Given the description of an element on the screen output the (x, y) to click on. 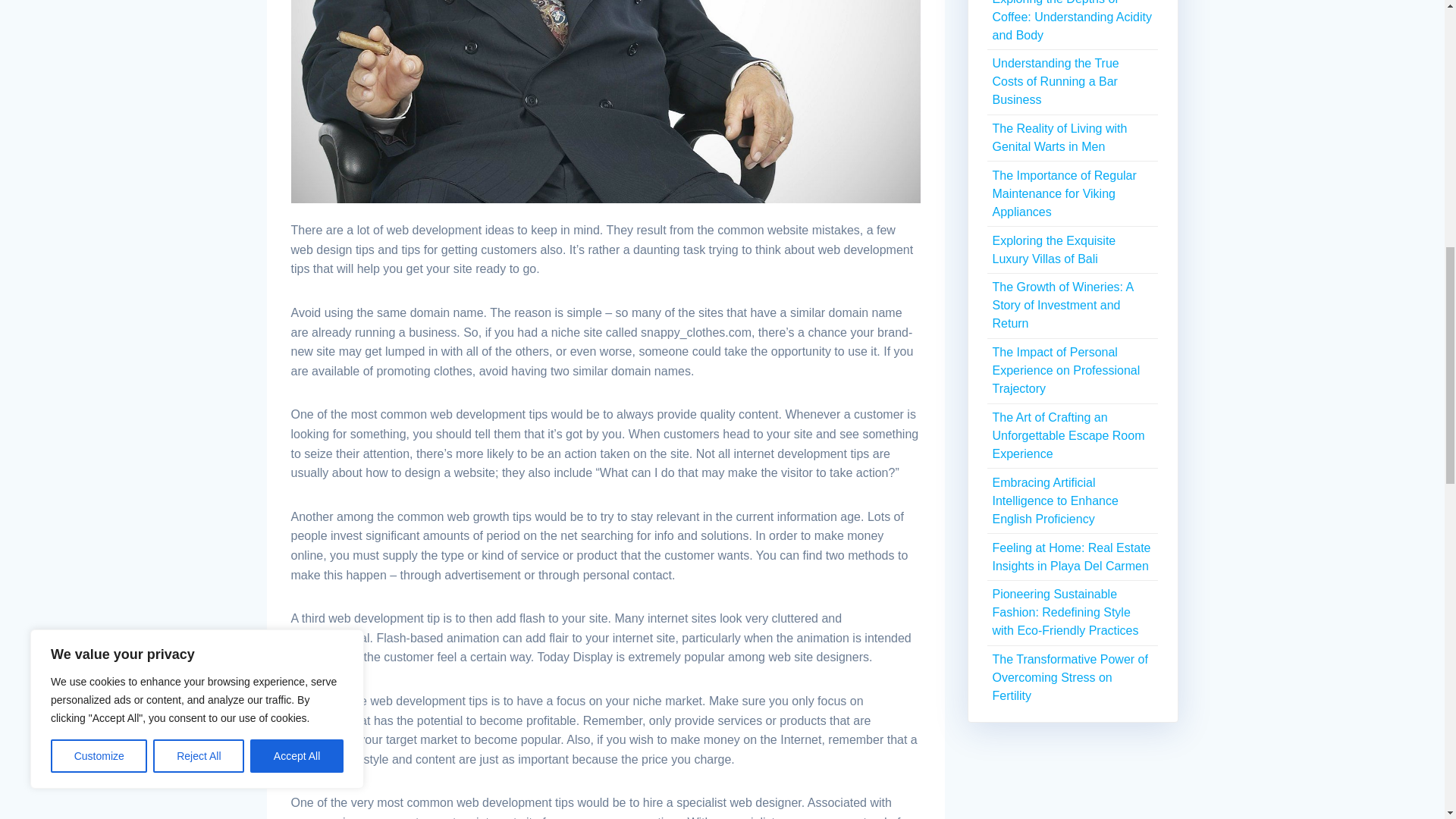
Exploring the Exquisite Luxury Villas of Bali (1053, 249)
Understanding the True Costs of Running a Bar Business (1054, 81)
The Reality of Living with Genital Warts in Men (1058, 137)
The Importance of Regular Maintenance for Viking Appliances (1063, 193)
